Given the description of an element on the screen output the (x, y) to click on. 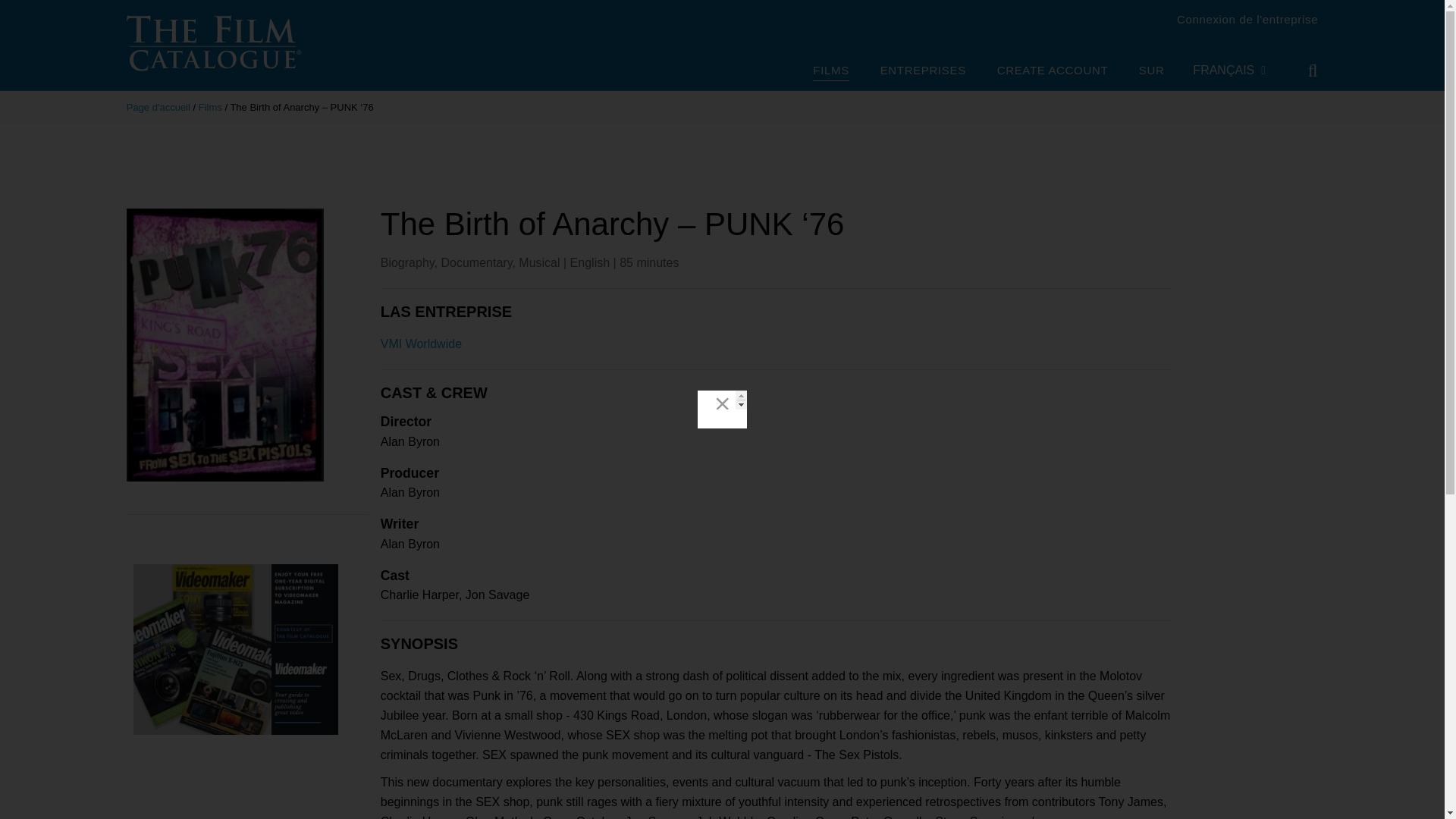
Connexion de l'entreprise (1246, 19)
SUR (1151, 71)
VMI Worldwide (420, 343)
Page d'accueil (158, 107)
ENTREPRISES (923, 71)
Films (210, 107)
GO (1302, 70)
CREATE ACCOUNT (1052, 71)
GO (1302, 70)
FILMS (830, 72)
